Given the description of an element on the screen output the (x, y) to click on. 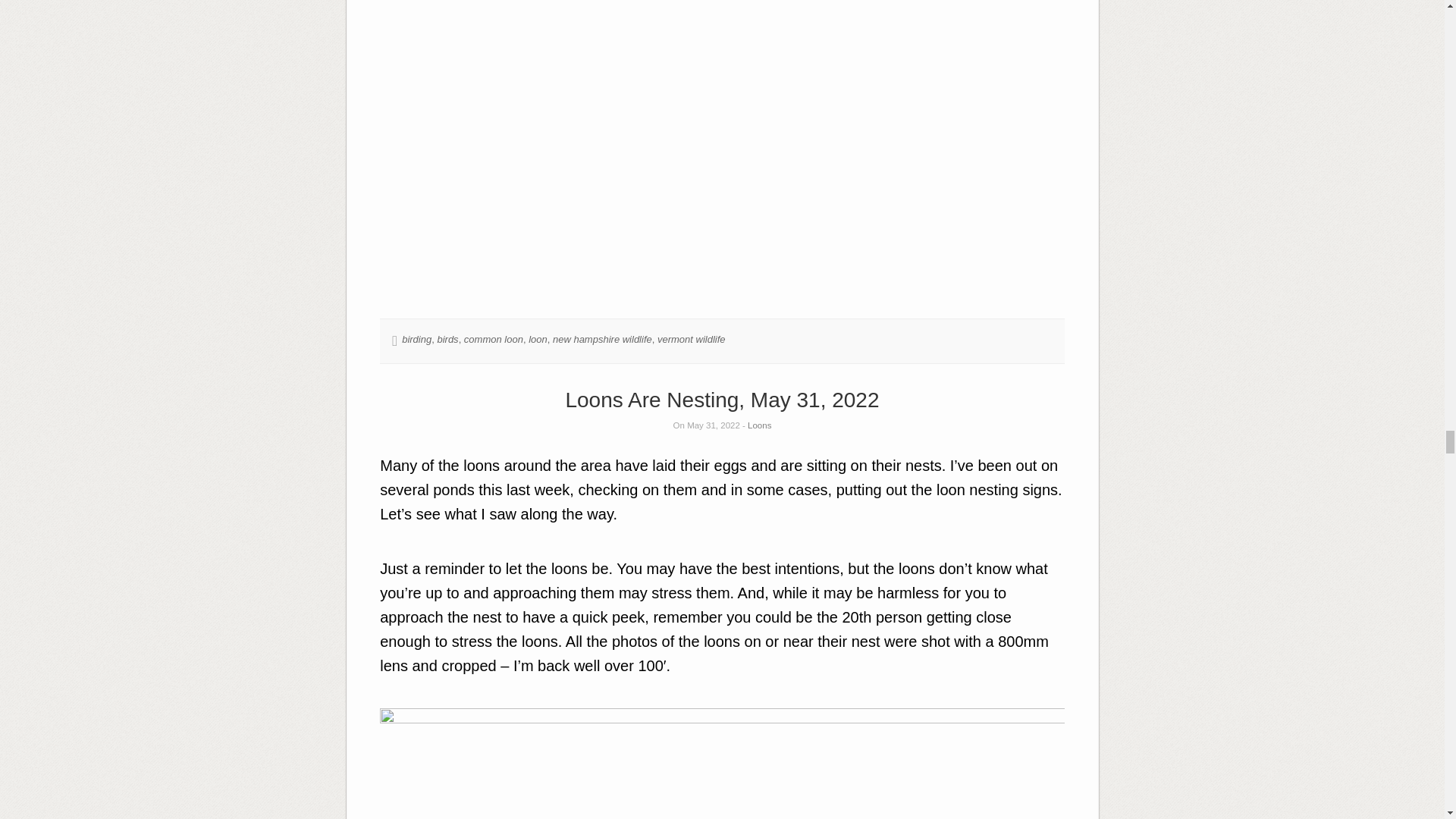
common loon (493, 338)
birds (447, 338)
loon (537, 338)
birding (415, 338)
new hampshire wildlife (602, 338)
